Given the description of an element on the screen output the (x, y) to click on. 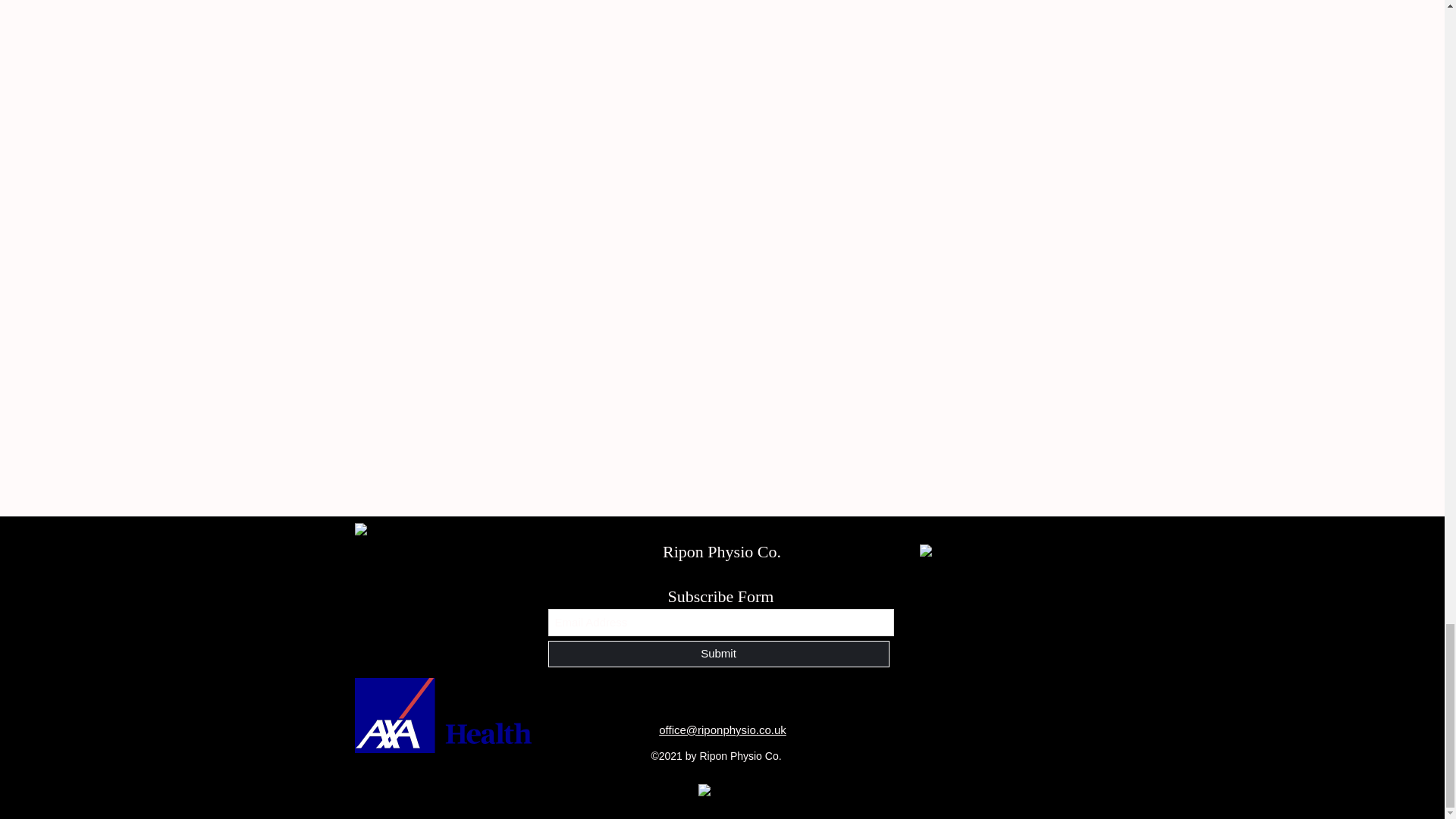
Submit (717, 653)
